Given the description of an element on the screen output the (x, y) to click on. 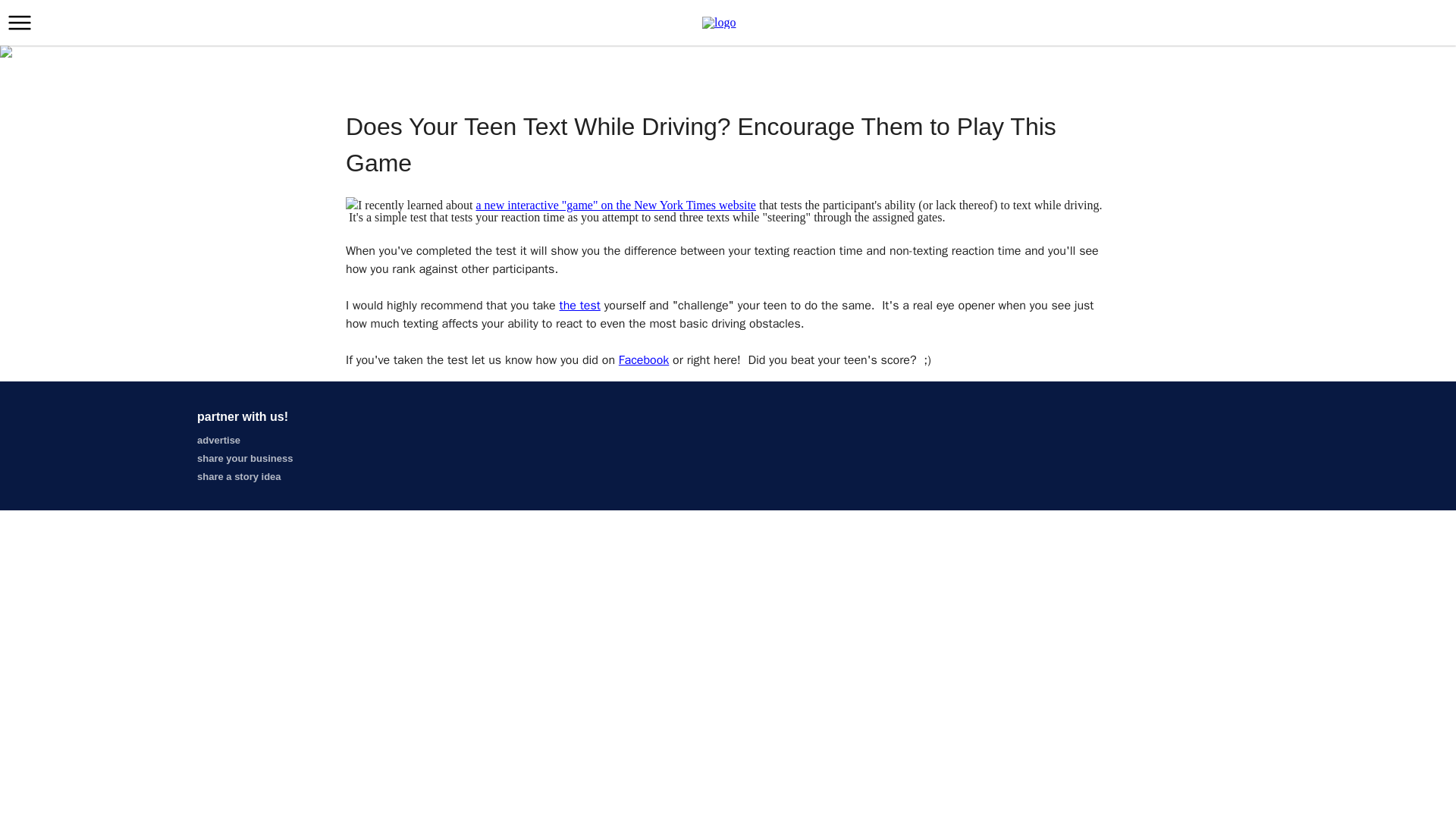
the test (579, 305)
share your business (244, 458)
share a story idea (238, 476)
Facebook (643, 359)
advertise (218, 439)
a new interactive "game" on the New York Times website (615, 205)
